Given the description of an element on the screen output the (x, y) to click on. 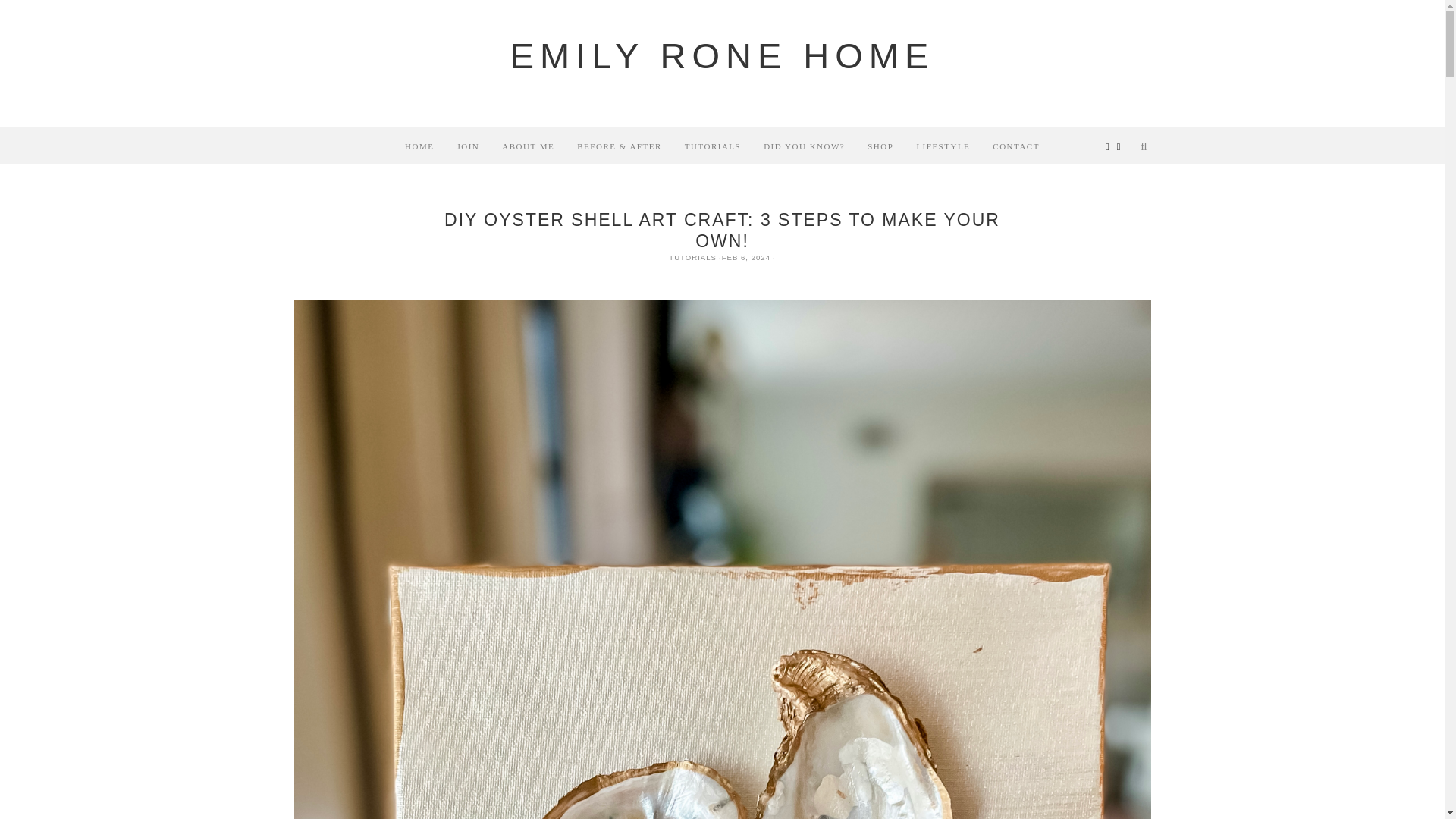
EMILY RONE HOME (722, 56)
JOIN (467, 145)
DID YOU KNOW? (804, 145)
Emily Rone Home (722, 56)
ABOUT ME (528, 145)
HOME (419, 145)
SHOP (880, 145)
TUTORIALS (712, 145)
LIFESTYLE (942, 145)
CONTACT (1016, 145)
